Given the description of an element on the screen output the (x, y) to click on. 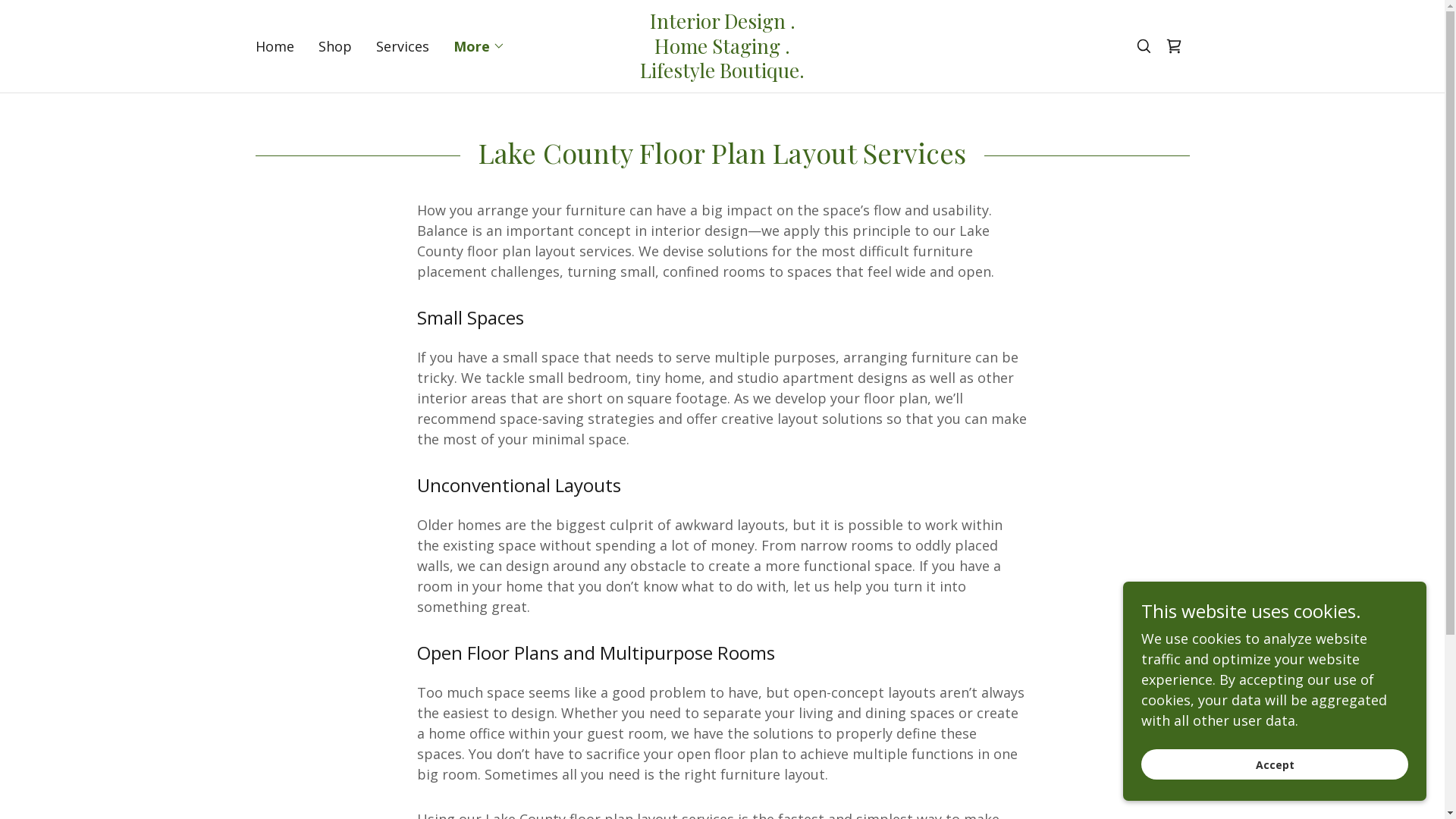
More Element type: text (479, 46)
Shop Element type: text (334, 45)
Services Element type: text (402, 45)
Accept Element type: text (1274, 764)
Home Element type: text (274, 45)
Interior Design .
Home Staging .
Lifestyle Boutique. Element type: text (722, 72)
